Given the description of an element on the screen output the (x, y) to click on. 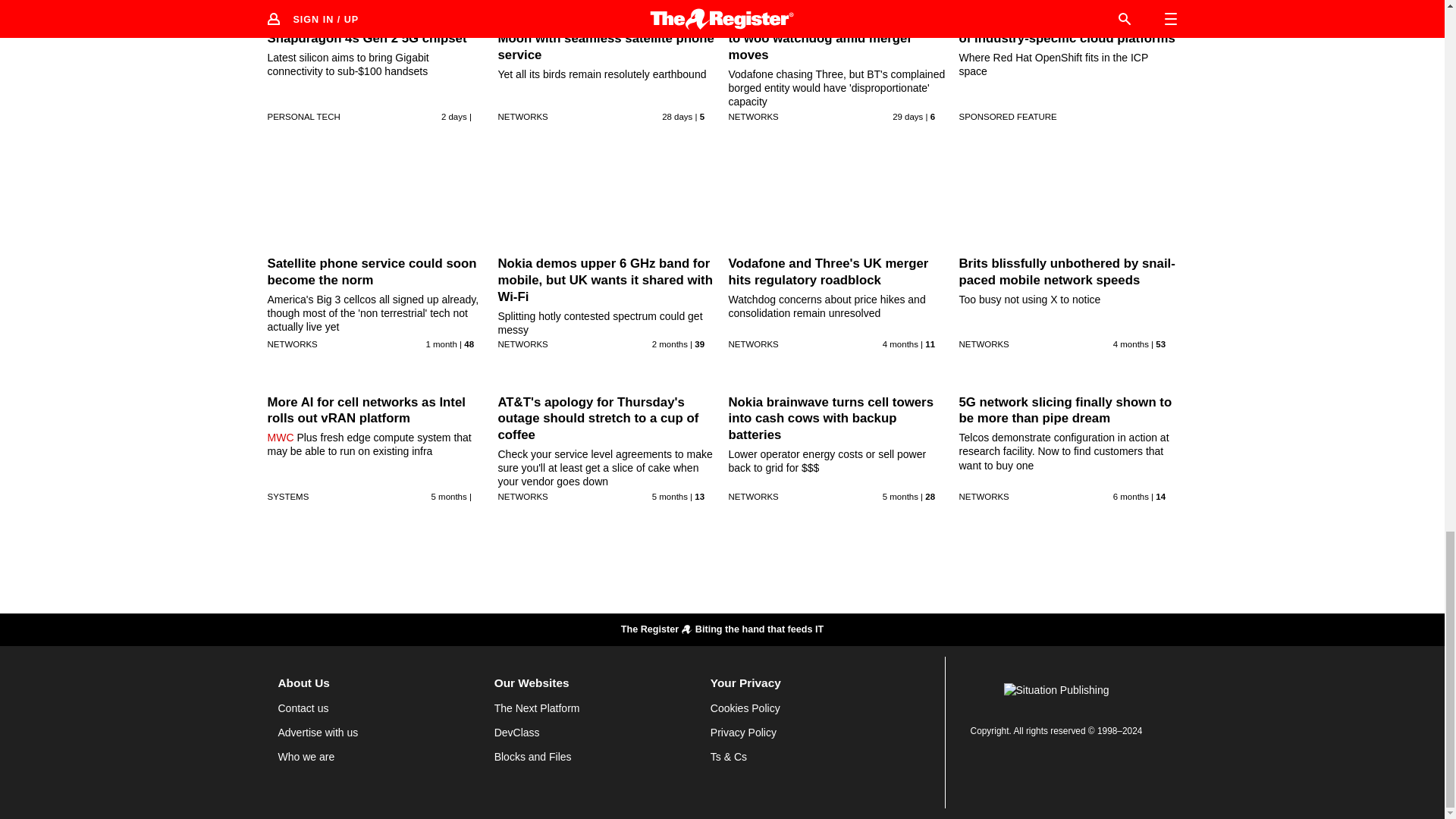
20 Mar 2024 9:30 (1130, 343)
4 Apr 2024 11:30 (900, 343)
5 Jun 2024 10:27 (669, 343)
26 Feb 2024 13:30 (448, 496)
19 Jun 2024 14:30 (441, 343)
30 Jul 2024 18:2 (454, 116)
4 Jul 2024 12:46 (677, 116)
3 Jul 2024 12:37 (907, 116)
